Given the description of an element on the screen output the (x, y) to click on. 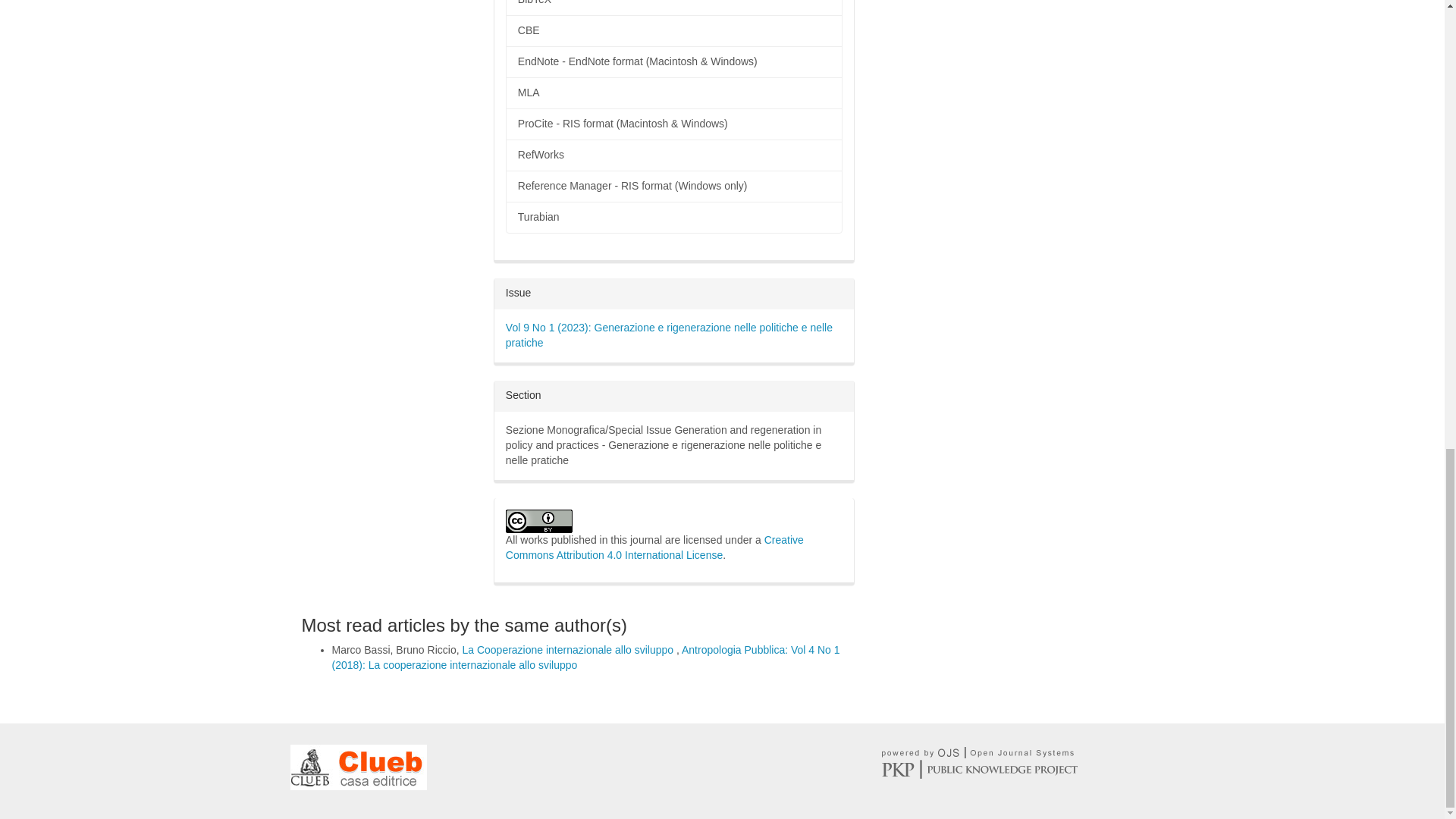
Creative Commons Attribution 4.0 International License (654, 547)
Turabian (674, 217)
RefWorks (674, 155)
CBE (674, 30)
La Cooperazione internazionale allo sviluppo (569, 649)
BibTeX (674, 7)
MLA (674, 92)
